Given the description of an element on the screen output the (x, y) to click on. 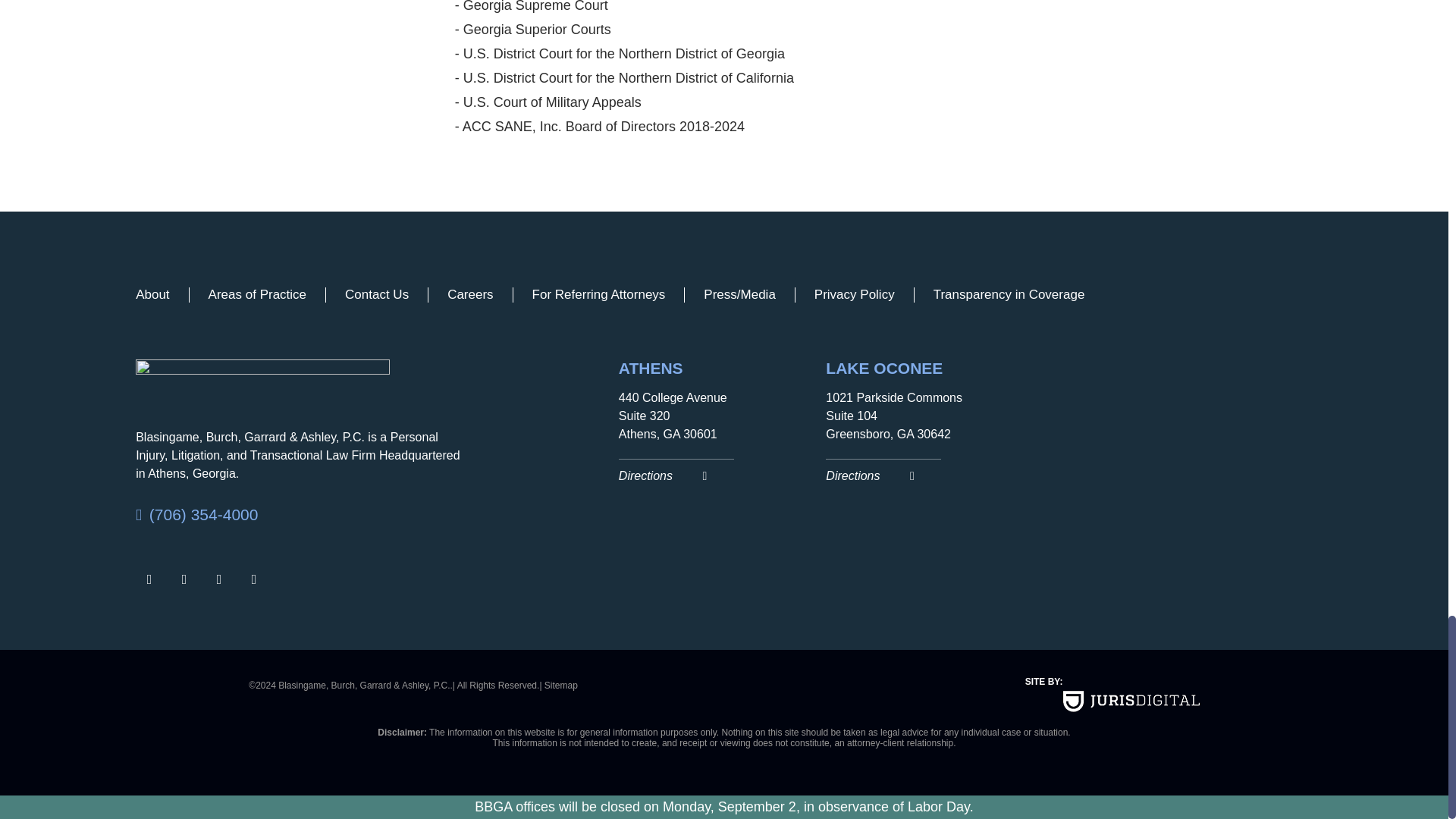
Click Here For Directions (714, 471)
Click Here For Directions (921, 471)
Call (301, 515)
